Given the description of an element on the screen output the (x, y) to click on. 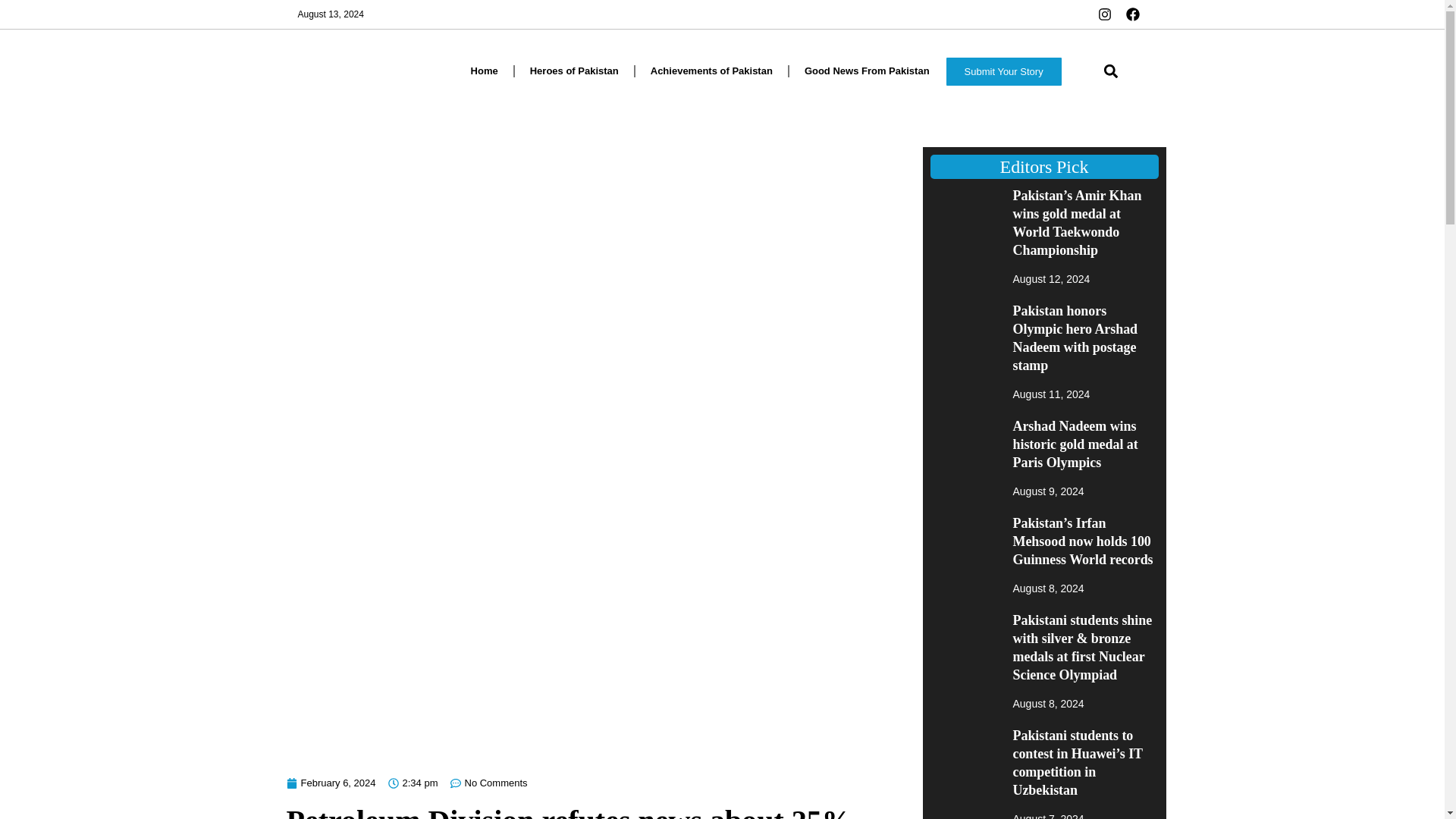
February 6, 2024 (330, 783)
Heroes of Pakistan (574, 71)
Submit Your Story (1003, 71)
Achievements of Pakistan (710, 71)
Good News From Pakistan (866, 71)
Home (484, 71)
No Comments (488, 783)
